Given the description of an element on the screen output the (x, y) to click on. 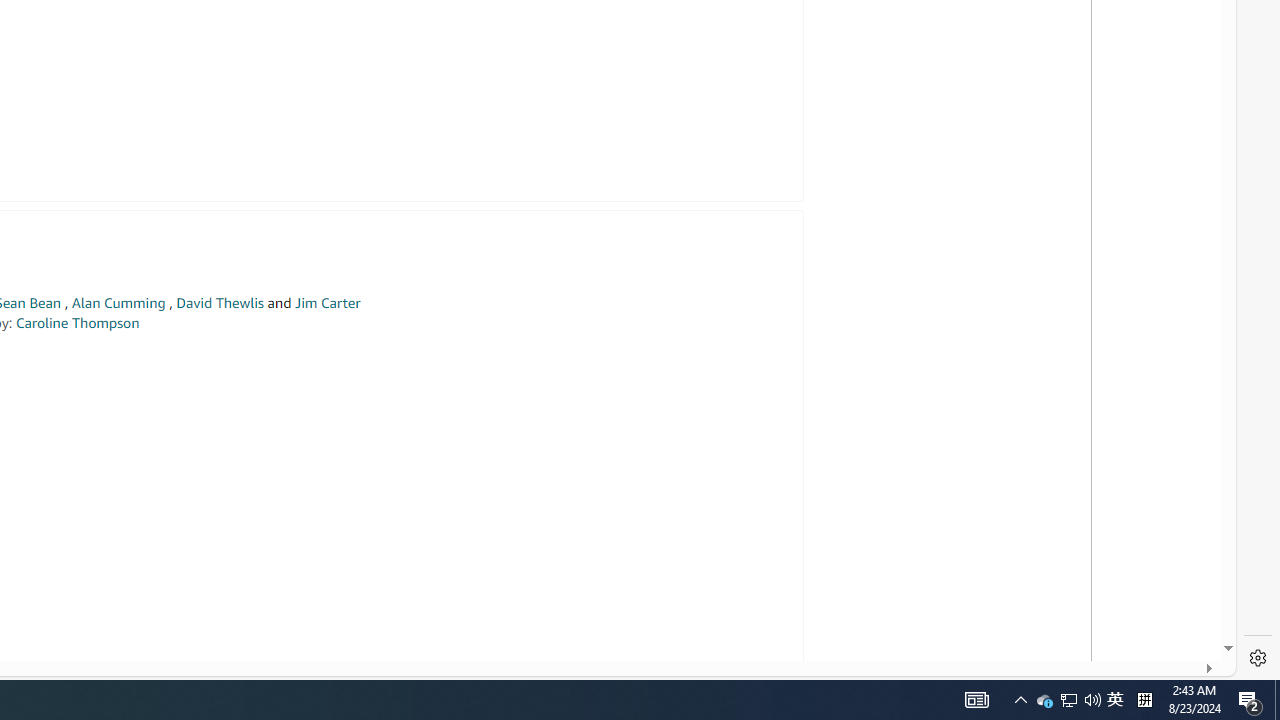
David Thewlis (219, 303)
Alan Cumming (118, 303)
Caroline Thompson (77, 322)
Jim Carter (327, 303)
